Given the description of an element on the screen output the (x, y) to click on. 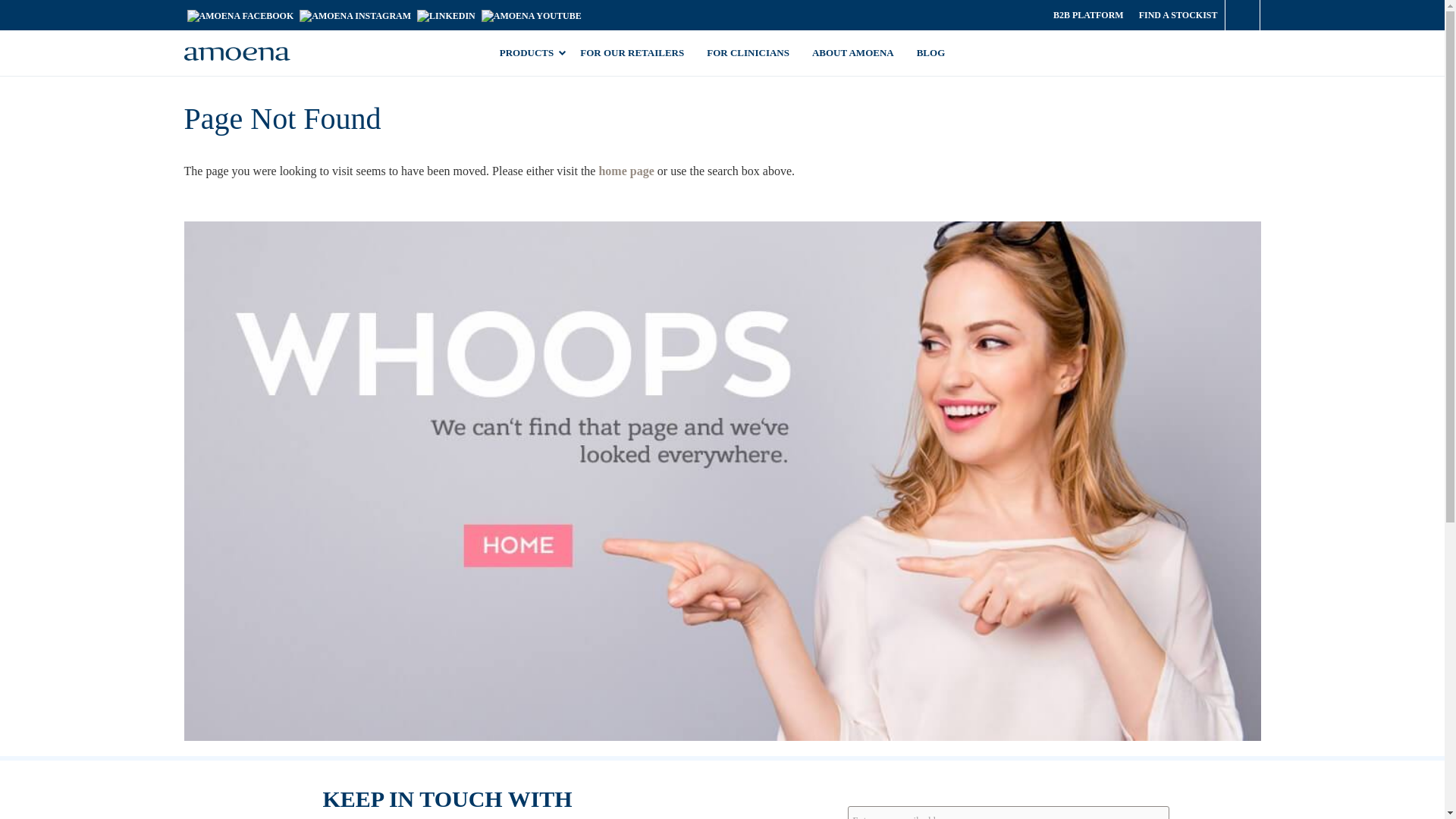
Amoena Australia Facebook (240, 14)
B2B Platform (1088, 14)
PRODUCTS (528, 53)
Amoena Instagram (355, 14)
FIND A STOCKIST (1178, 14)
Amoena YouTube (532, 14)
LinkedIn (446, 14)
Amoena Products (528, 53)
Amoena (236, 53)
B2B PLATFORM (1088, 14)
